Given the description of an element on the screen output the (x, y) to click on. 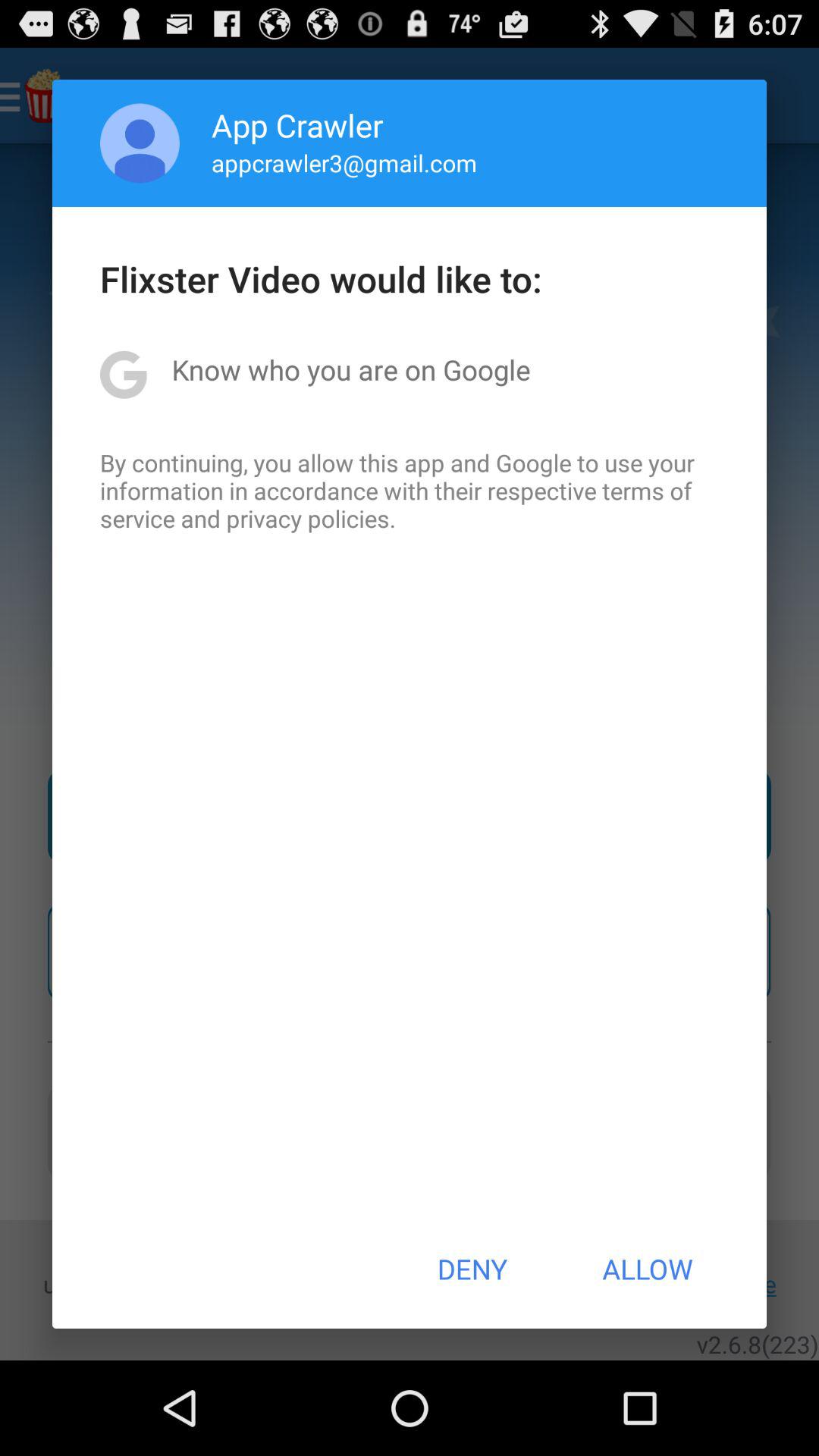
choose the app below the by continuing you item (471, 1268)
